Given the description of an element on the screen output the (x, y) to click on. 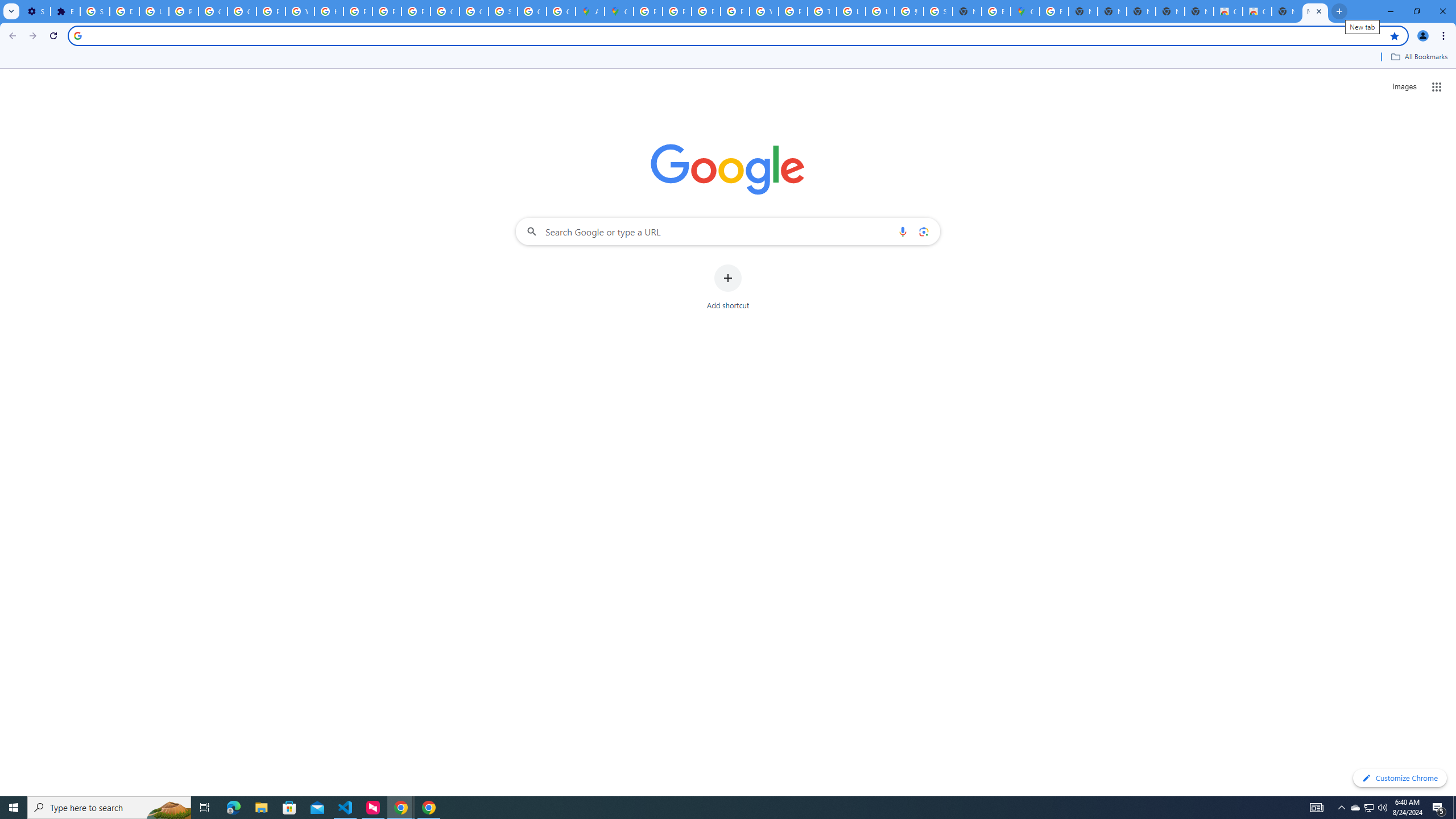
Policy Accountability and Transparency - Transparency Center (648, 11)
Classic Blue - Chrome Web Store (1227, 11)
Delete photos & videos - Computer - Google Photos Help (124, 11)
Settings - On startup (35, 11)
